Given the description of an element on the screen output the (x, y) to click on. 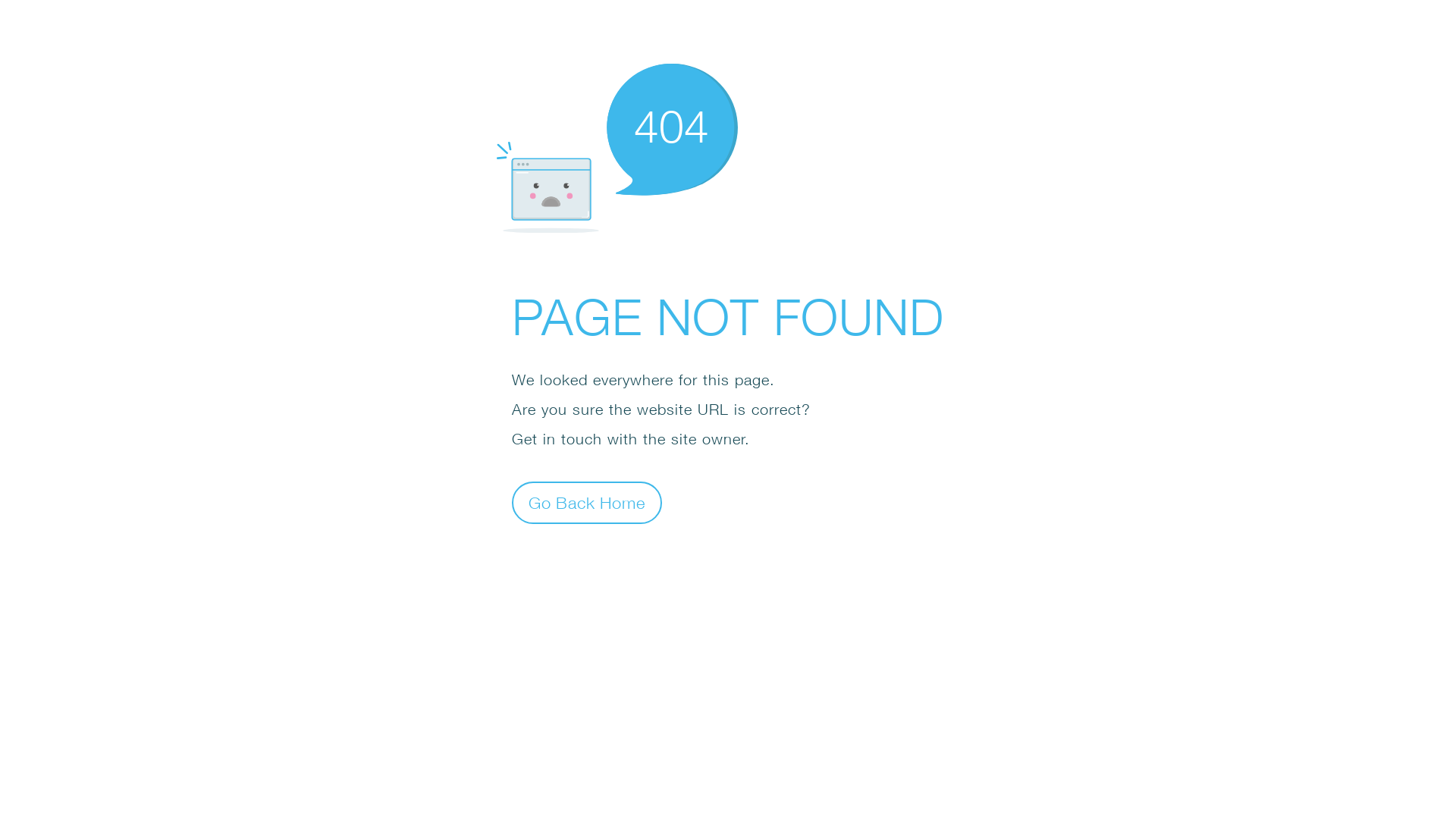
Go Back Home Element type: text (586, 502)
